Given the description of an element on the screen output the (x, y) to click on. 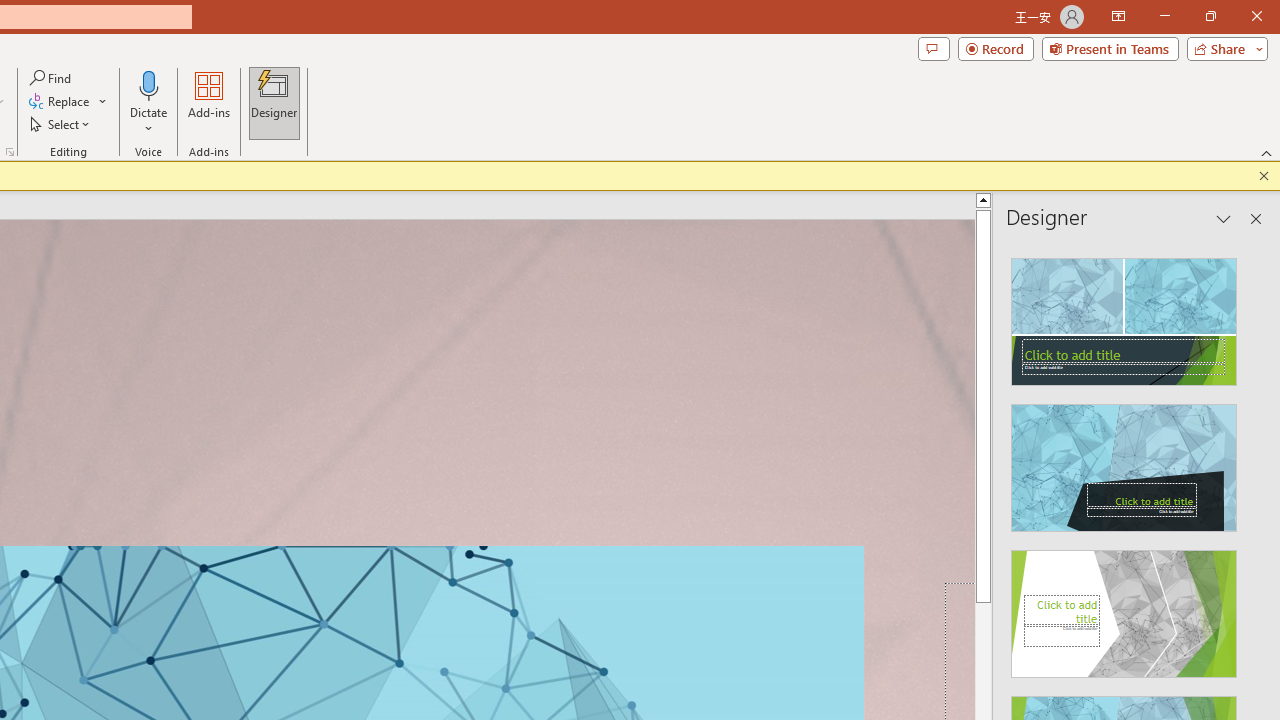
Design Idea (1124, 607)
